Given the description of an element on the screen output the (x, y) to click on. 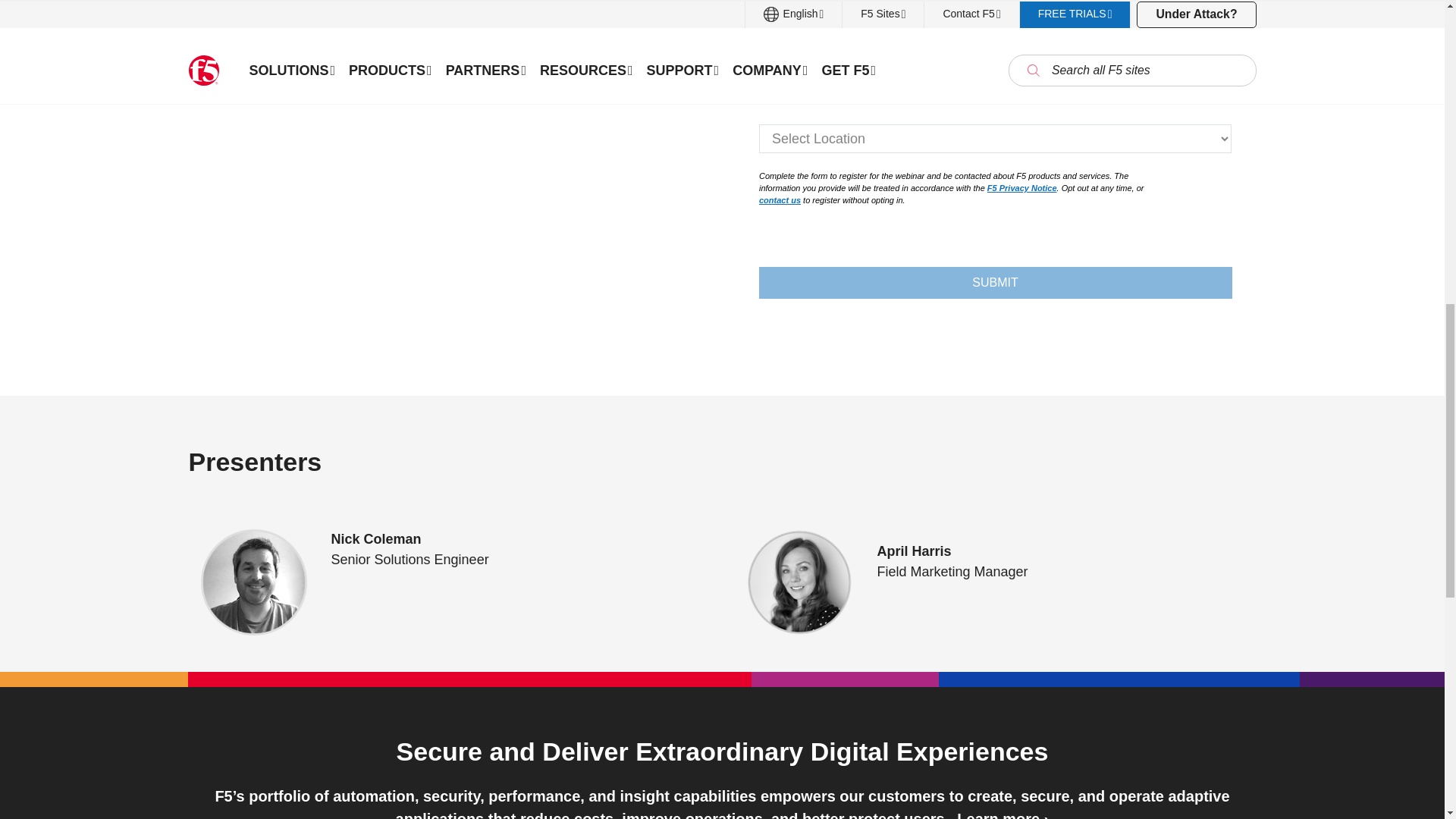
SUBMIT (994, 282)
F5 Privacy Notice (1022, 187)
Job Title (994, 13)
contact us (779, 199)
Phone Number (994, 76)
